Given the description of an element on the screen output the (x, y) to click on. 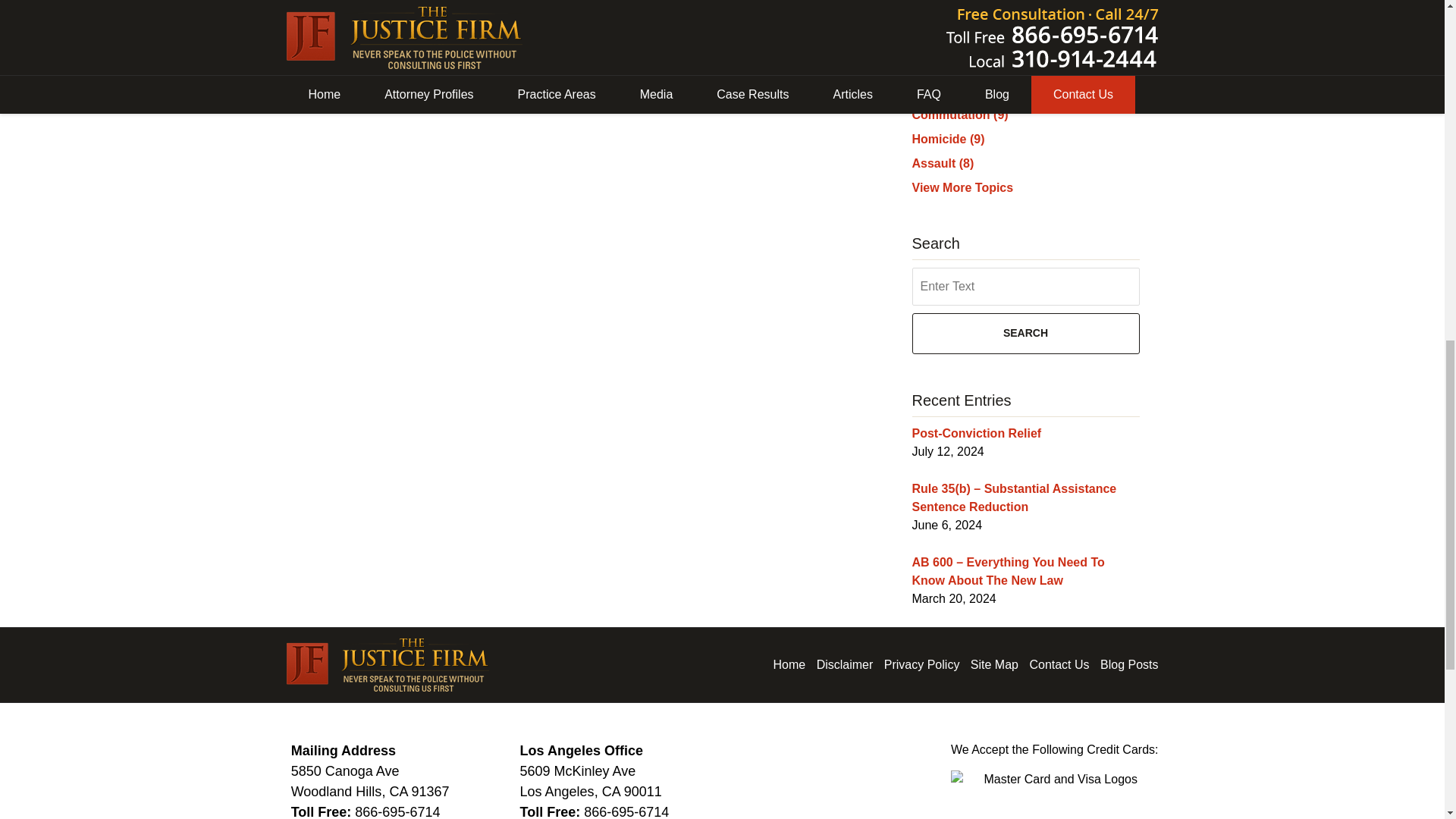
View all posts in Drug Crimes (368, 81)
Murder (423, 81)
Drug Crimes (368, 81)
View all posts in Sentencing Enhancements (574, 81)
firearm enhancements (382, 97)
View all posts tagged with firearm enhancements (382, 97)
SB 620 (465, 81)
View all posts tagged with SB 620 (481, 97)
View all posts in SB 620 (465, 81)
SB 620 (481, 97)
